Given the description of an element on the screen output the (x, y) to click on. 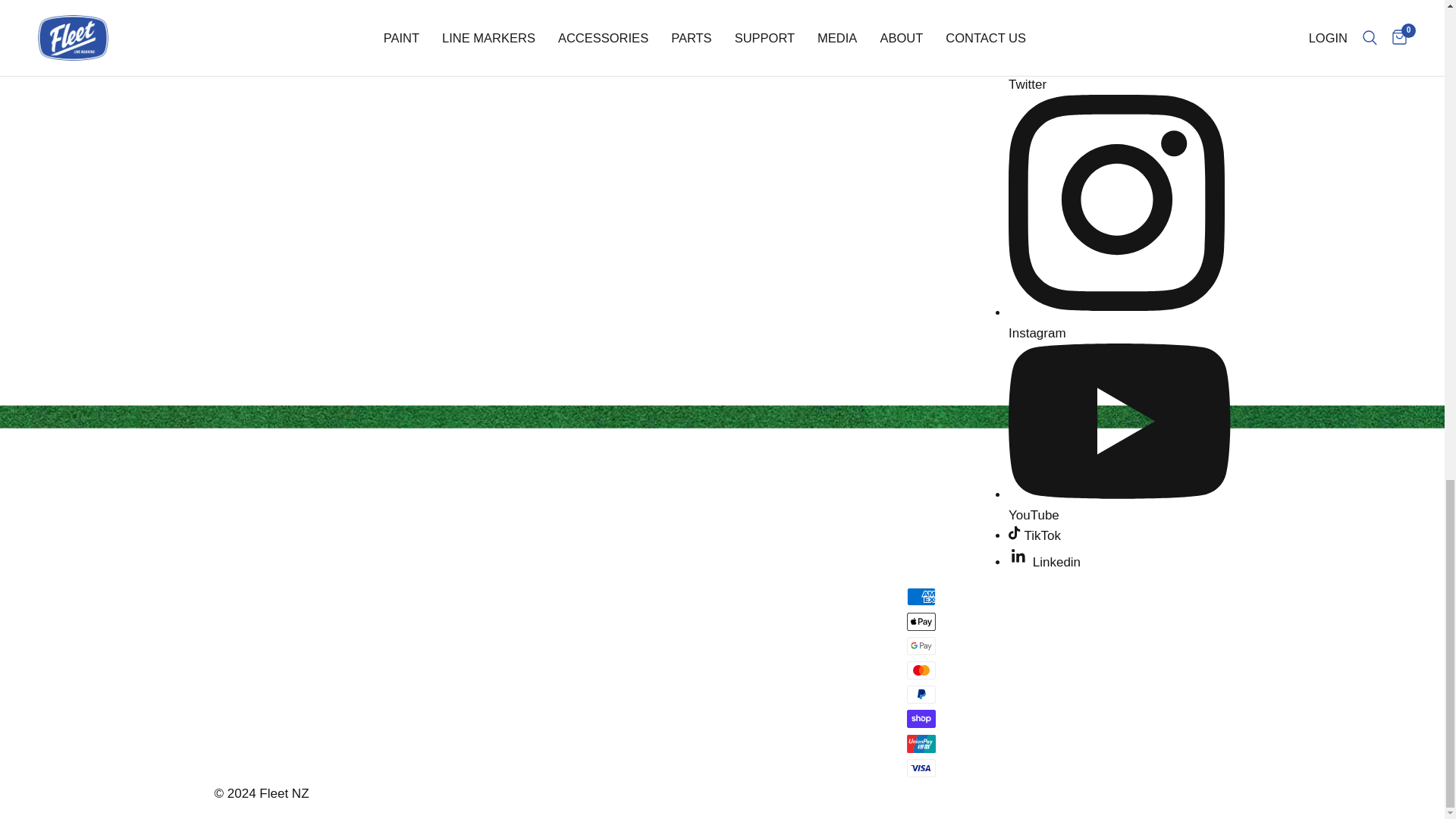
YouTube (1119, 504)
PayPal (921, 694)
Twitter (1119, 73)
American Express (921, 597)
Visa (921, 768)
Apple Pay (921, 621)
Instagram (1119, 322)
Google Pay (921, 646)
Union Pay (921, 743)
Shop Pay (921, 719)
Mastercard (921, 669)
